Given the description of an element on the screen output the (x, y) to click on. 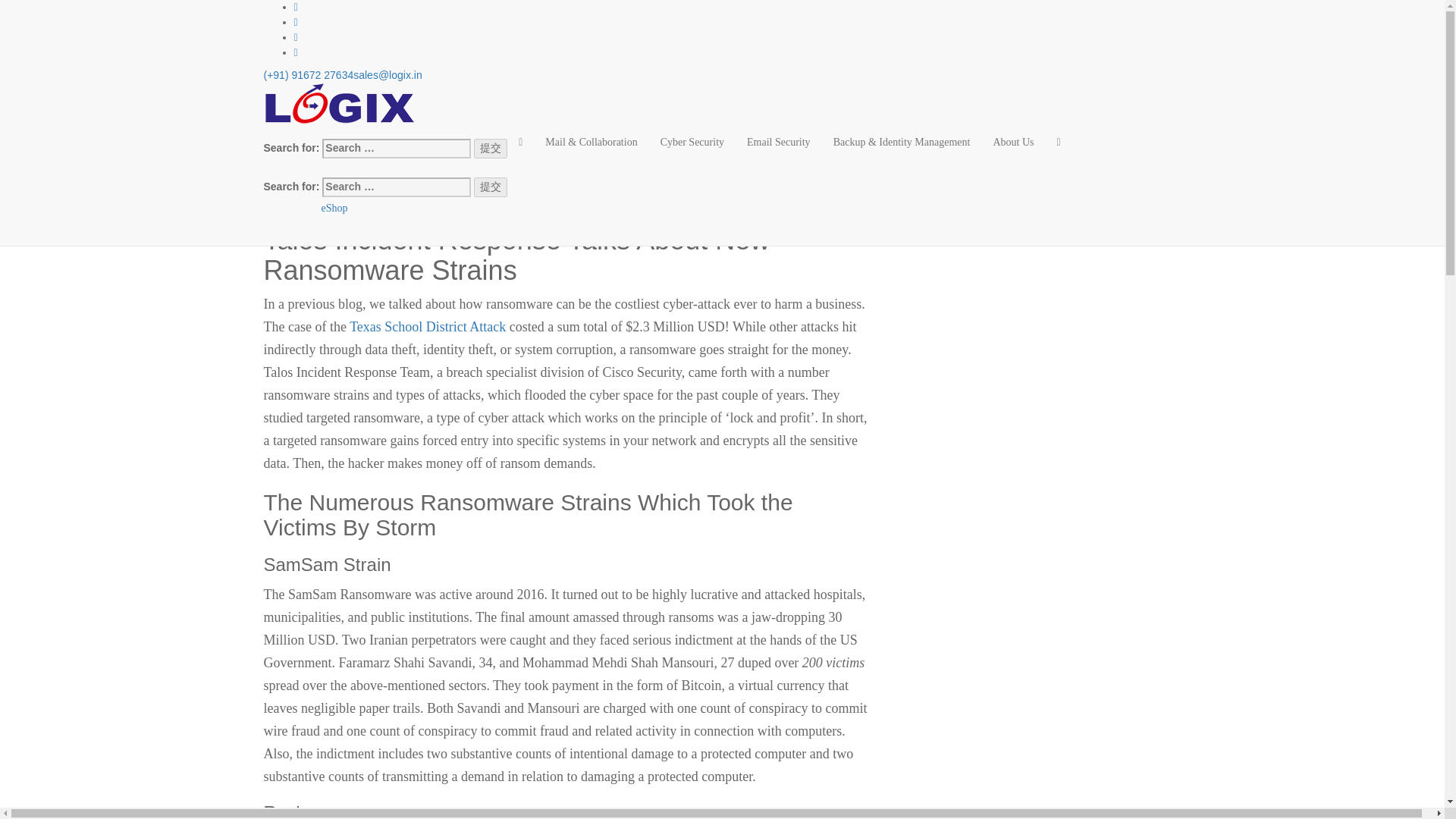
Search for: (385, 142)
Talos Incident Response Talks About New Ransomware Strains (418, 125)
The Takeaway (323, 194)
SamSam Strain (338, 154)
Go to Logix InfoSecurity. (305, 6)
About Us (1013, 142)
Ryuk (319, 166)
Cyber Security (692, 142)
Email Security (778, 142)
Go to the Blog Category archives. (370, 6)
Ransomware Strains In The News Again 1 (357, 75)
